Given the description of an element on the screen output the (x, y) to click on. 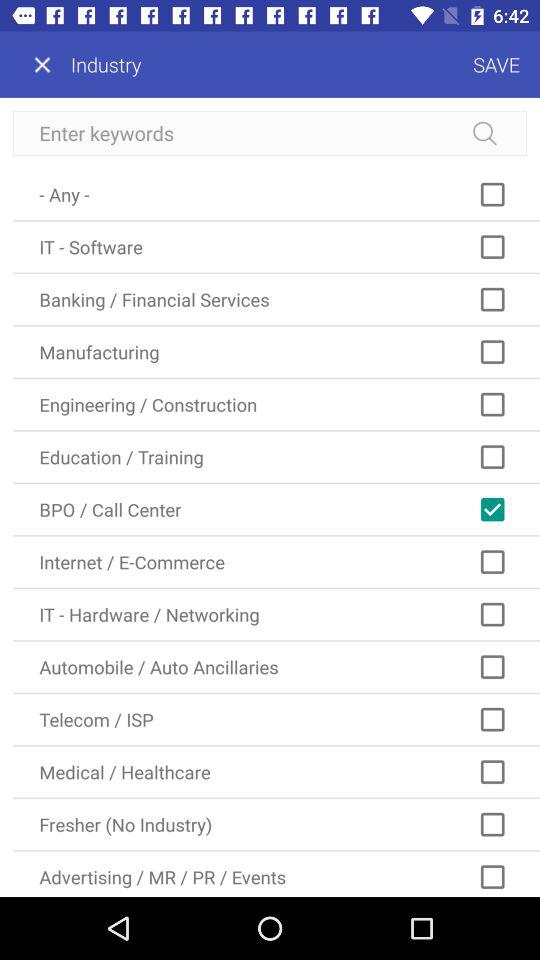
swipe to the bpo / call center icon (276, 509)
